Given the description of an element on the screen output the (x, y) to click on. 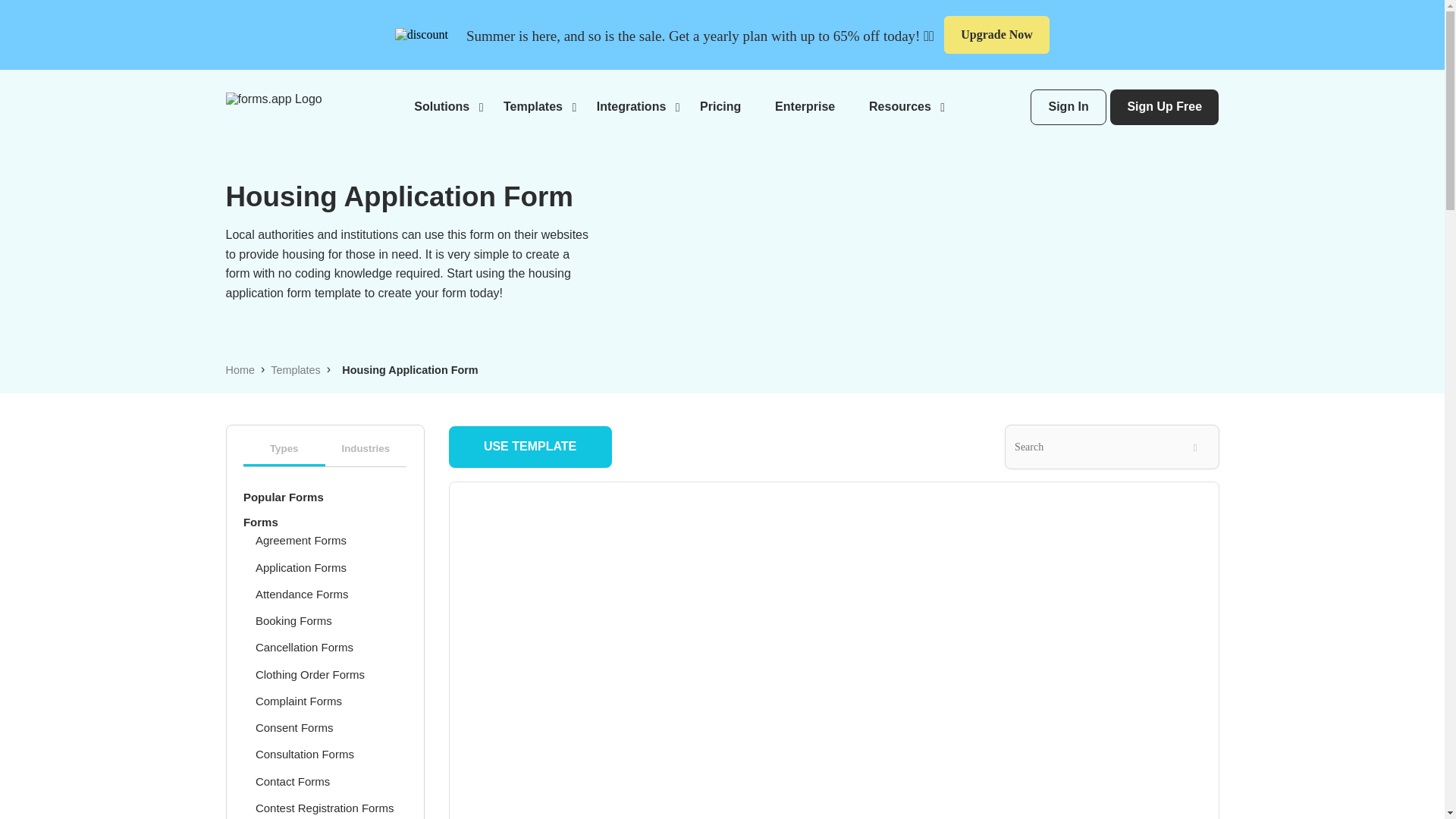
Pricing (720, 106)
Upgrade Now (996, 34)
Sign In (1068, 107)
Enterprise (804, 106)
Sign Up Free (1163, 107)
